Given the description of an element on the screen output the (x, y) to click on. 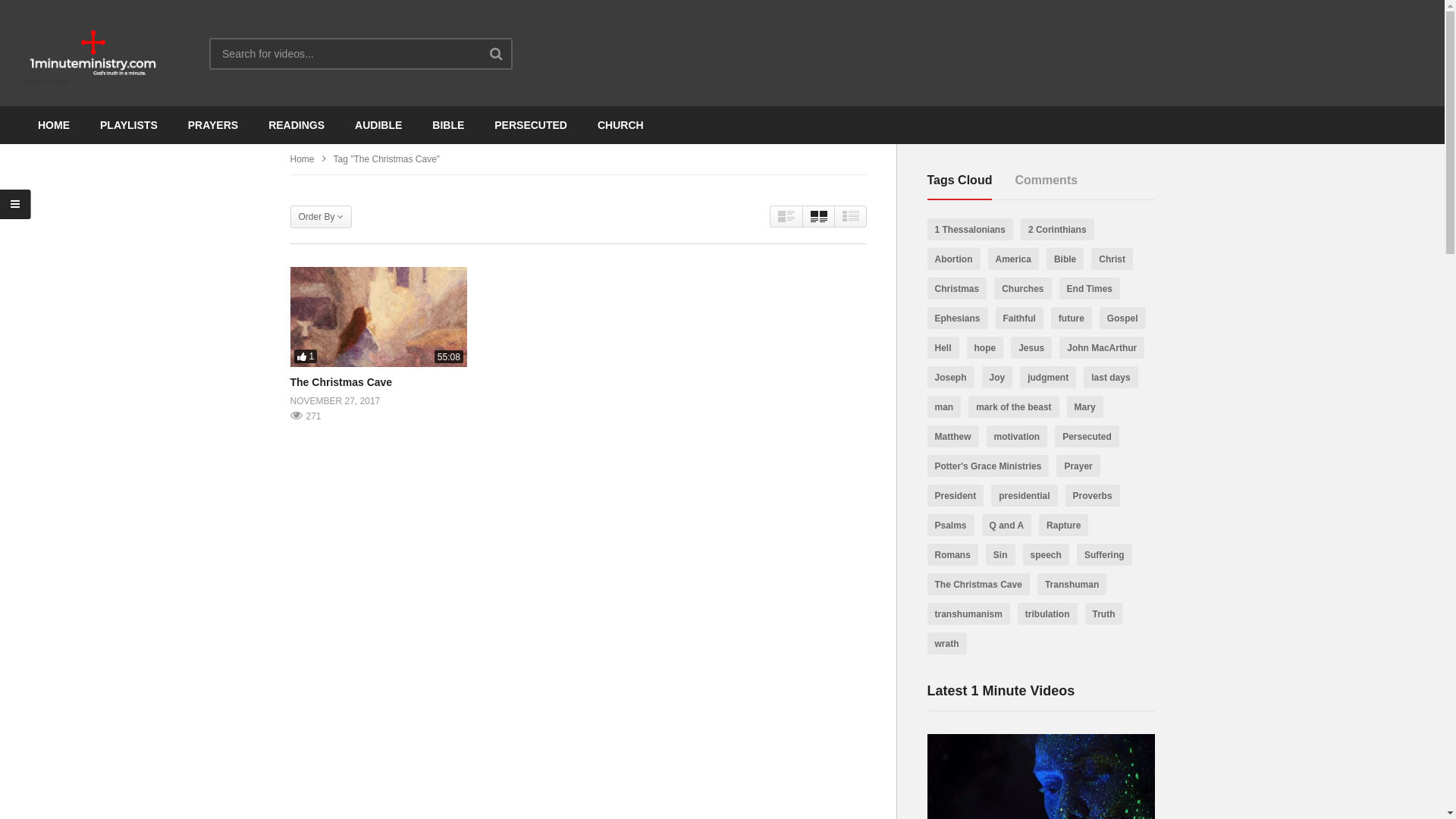
End Times Element type: text (1089, 288)
man Element type: text (943, 406)
Jesus Element type: text (1030, 347)
last days Element type: text (1110, 377)
Churches Element type: text (1022, 288)
1 Thessalonians Element type: text (969, 229)
Romans Element type: text (951, 554)
BIBLE Element type: text (448, 125)
Persecuted Element type: text (1086, 436)
Bible Element type: text (1064, 258)
READINGS Element type: text (296, 125)
John MacArthur Element type: text (1101, 347)
PRAYERS Element type: text (212, 125)
Transhuman Element type: text (1071, 584)
2 Corinthians Element type: text (1057, 229)
wrath Element type: text (946, 643)
PLAYLISTS Element type: text (128, 125)
The Christmas Cave Element type: hover (377, 316)
Ephesians Element type: text (956, 318)
Prayer Element type: text (1077, 465)
Suffering Element type: text (1104, 554)
future Element type: text (1071, 318)
Home Element type: text (301, 158)
hope Element type: text (985, 347)
Christmas Element type: text (956, 288)
mark of the beast Element type: text (1013, 406)
judgment Element type: text (1047, 377)
Tags Cloud Element type: text (960, 179)
AUDIBLE Element type: text (378, 125)
CHURCH Element type: text (620, 125)
Sin Element type: text (1000, 554)
Rapture Element type: text (1063, 525)
Matthew Element type: text (952, 436)
Comments Element type: text (1045, 179)
The Christmas Cave Element type: text (340, 382)
The Christmas Cave Element type: text (977, 584)
Truth Element type: text (1104, 613)
PERSECUTED Element type: text (530, 125)
Christ Element type: text (1111, 258)
Gospel Element type: text (1122, 318)
Joseph Element type: text (949, 377)
Hell Element type: text (942, 347)
Abortion Element type: text (952, 258)
Faithful Element type: text (1019, 318)
NOVEMBER 27, 2017 Element type: text (334, 401)
tribulation Element type: text (1047, 613)
motivation Element type: text (1016, 436)
Q and A Element type: text (1007, 525)
Potter's Grace Ministries Element type: text (987, 465)
Psalms Element type: text (949, 525)
SEARCH Element type: text (510, 52)
HOME Element type: text (53, 125)
Joy Element type: text (997, 377)
transhumanism Element type: text (967, 613)
Proverbs Element type: text (1092, 495)
President Element type: text (954, 495)
1MinuteMinistry.com Element type: hover (92, 52)
speech Element type: text (1045, 554)
presidential Element type: text (1024, 495)
America Element type: text (1012, 258)
Mary Element type: text (1084, 406)
